Given the description of an element on the screen output the (x, y) to click on. 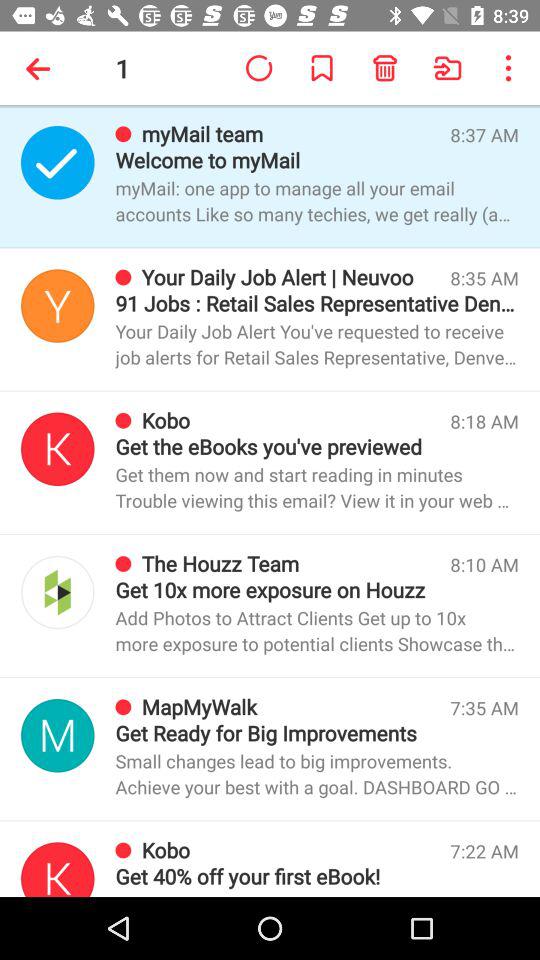
perfil picture mail account (57, 735)
